Given the description of an element on the screen output the (x, y) to click on. 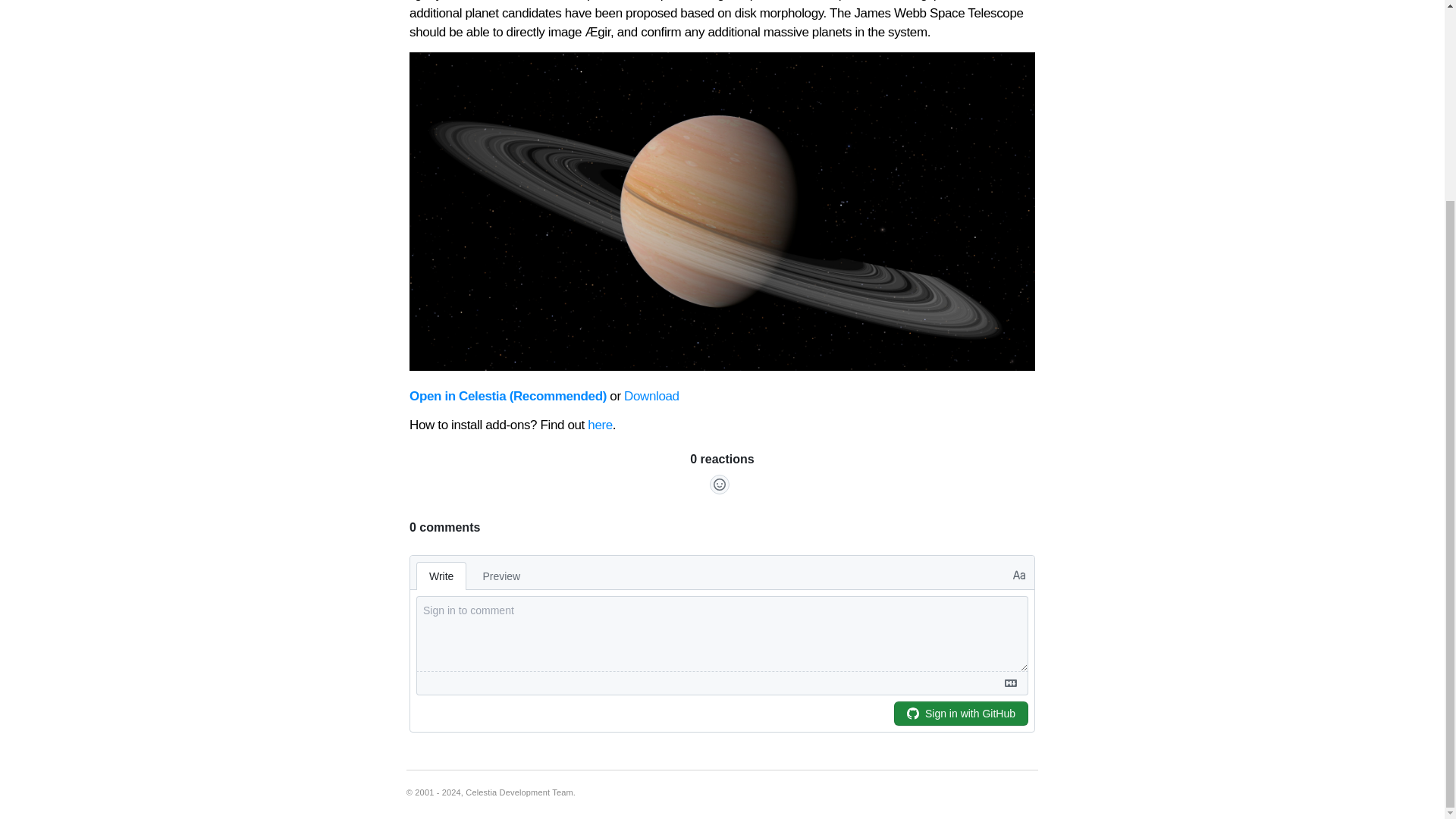
Download (651, 396)
here (600, 424)
